Given the description of an element on the screen output the (x, y) to click on. 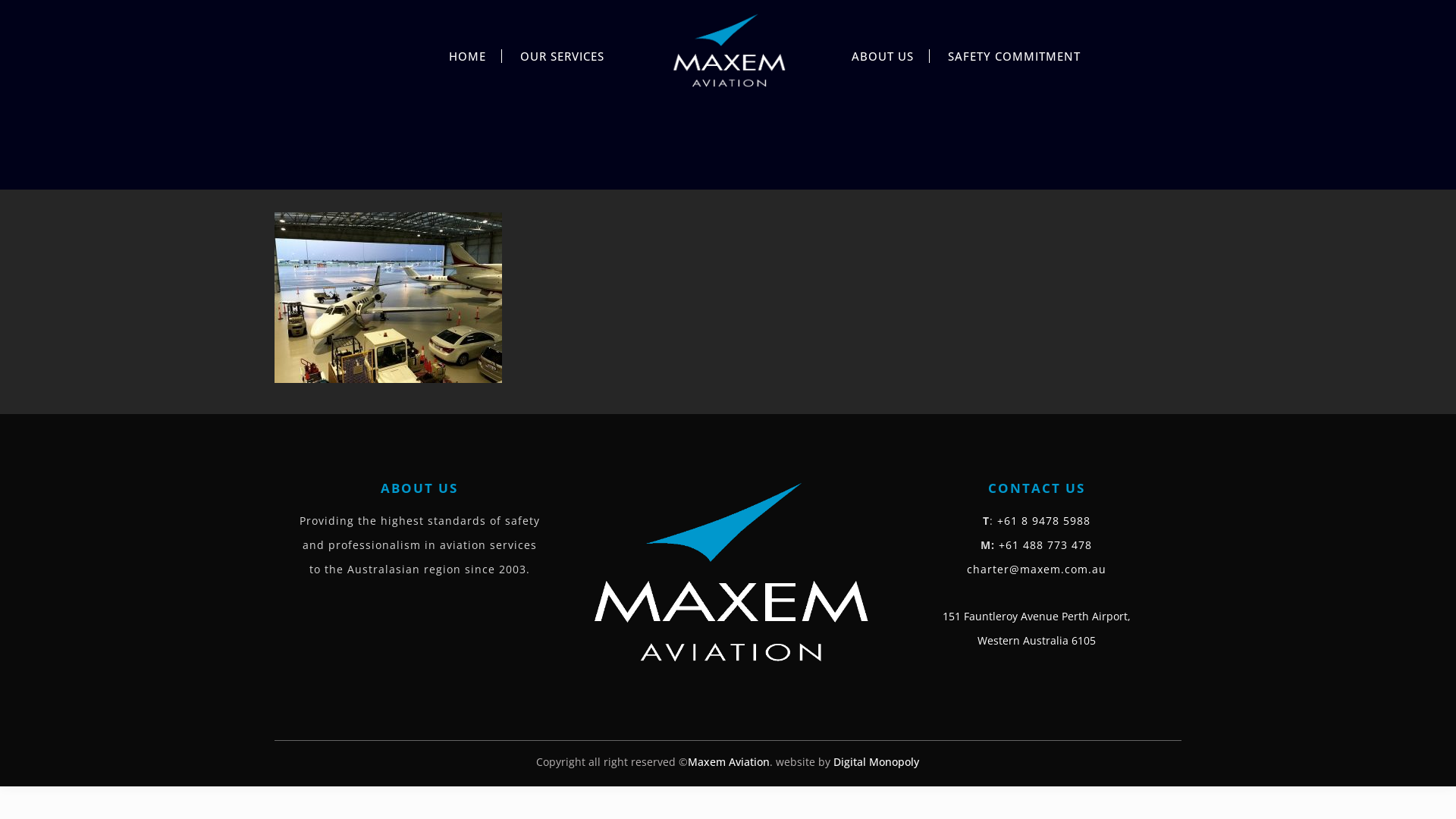
SAFETY COMMITMENT Element type: text (1013, 51)
ABOUT US Element type: text (882, 51)
HOME Element type: text (467, 51)
Maxem Aviation Element type: hover (727, 49)
Western Australia 6105 Element type: text (1036, 640)
+61 8 9478 5988 Element type: text (1043, 520)
OUR SERVICES Element type: text (562, 51)
+61 488 773 478 Element type: text (1045, 544)
Digital Monopoly Element type: text (876, 761)
151 Fauntleroy Avenue Perth Airport, Element type: text (1036, 615)
charter@maxem.com.au Element type: text (1036, 568)
